Given the description of an element on the screen output the (x, y) to click on. 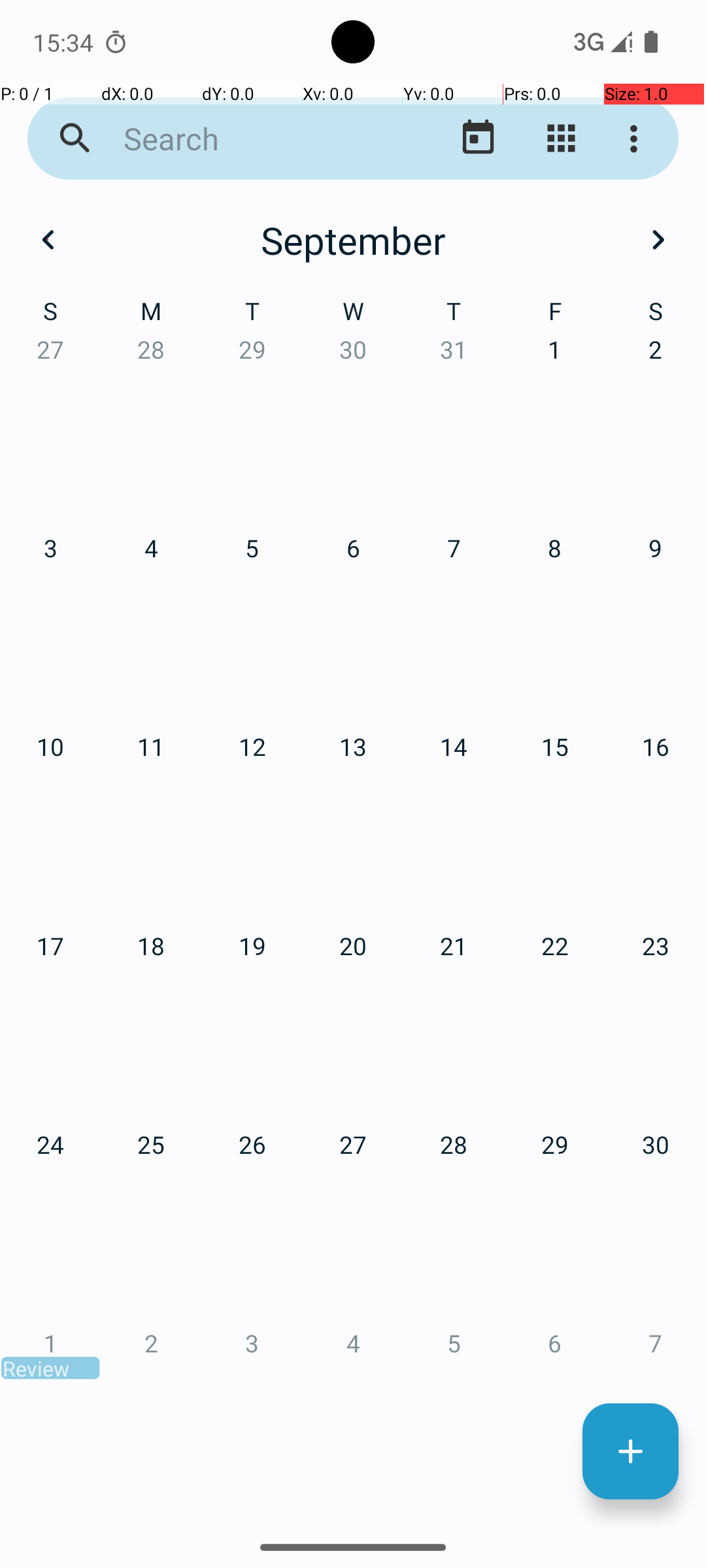
September Element type: android.widget.TextView (352, 239)
